Given the description of an element on the screen output the (x, y) to click on. 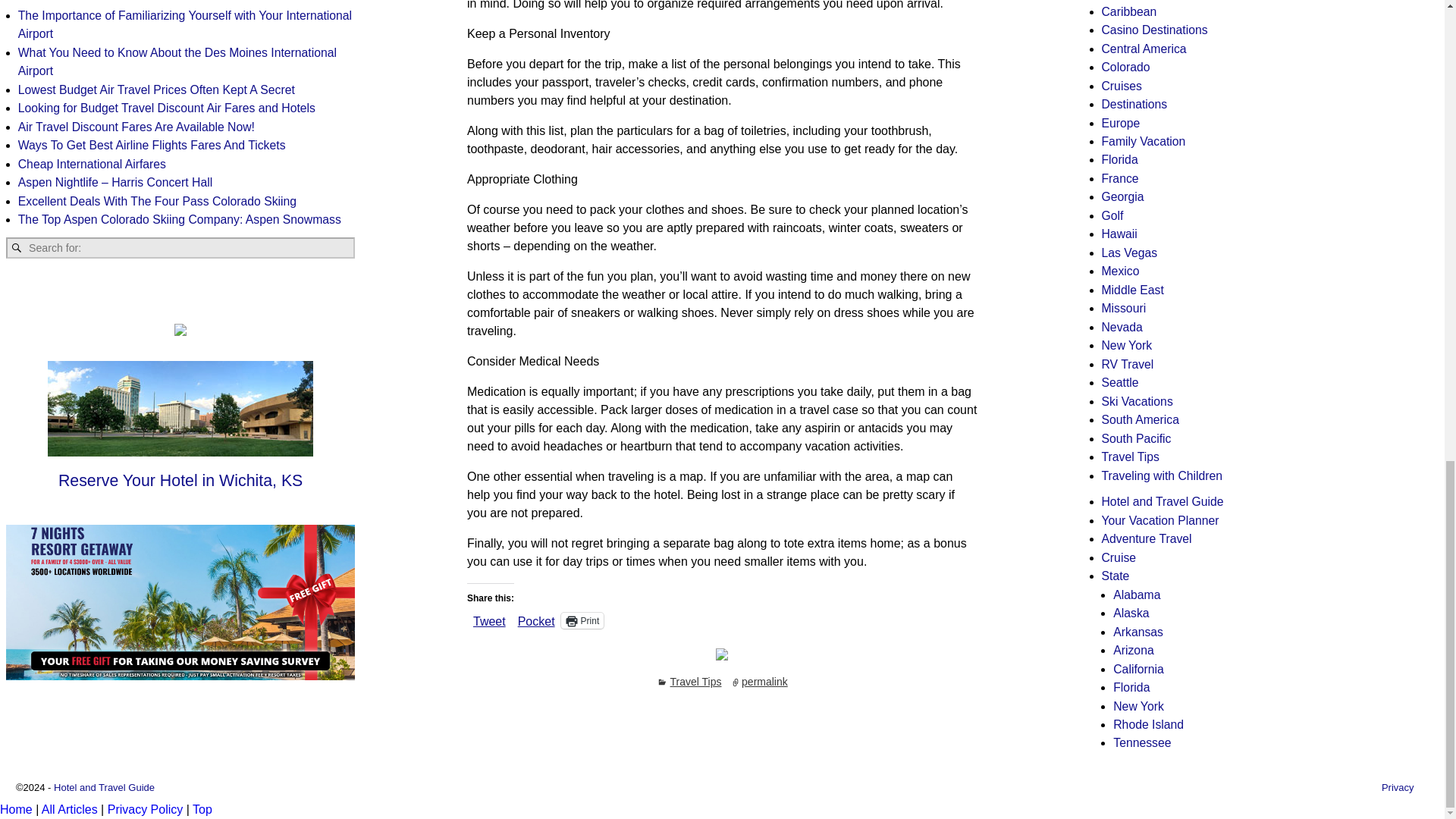
Lowest Budget Air Travel Prices Often Kept A Secret (156, 89)
Reserve Your Hotel in Wichita, KS (180, 481)
Cheap International Airfares (91, 164)
Travel Tips (695, 681)
Looking for Budget Travel Discount Air Fares and Hotels (166, 107)
Permalink to Necessary Items To Bring Along When You Travel (764, 681)
Excellent Deals With The Four Pass Colorado Skiing (157, 201)
Hotel and Travel Guide (103, 787)
Air Travel Discount Fares Are Available Now! (135, 126)
The Top Aspen Colorado Skiing Company: Aspen Snowmass (178, 219)
Print (582, 620)
Pocket (536, 621)
Click to print (582, 620)
